Given the description of an element on the screen output the (x, y) to click on. 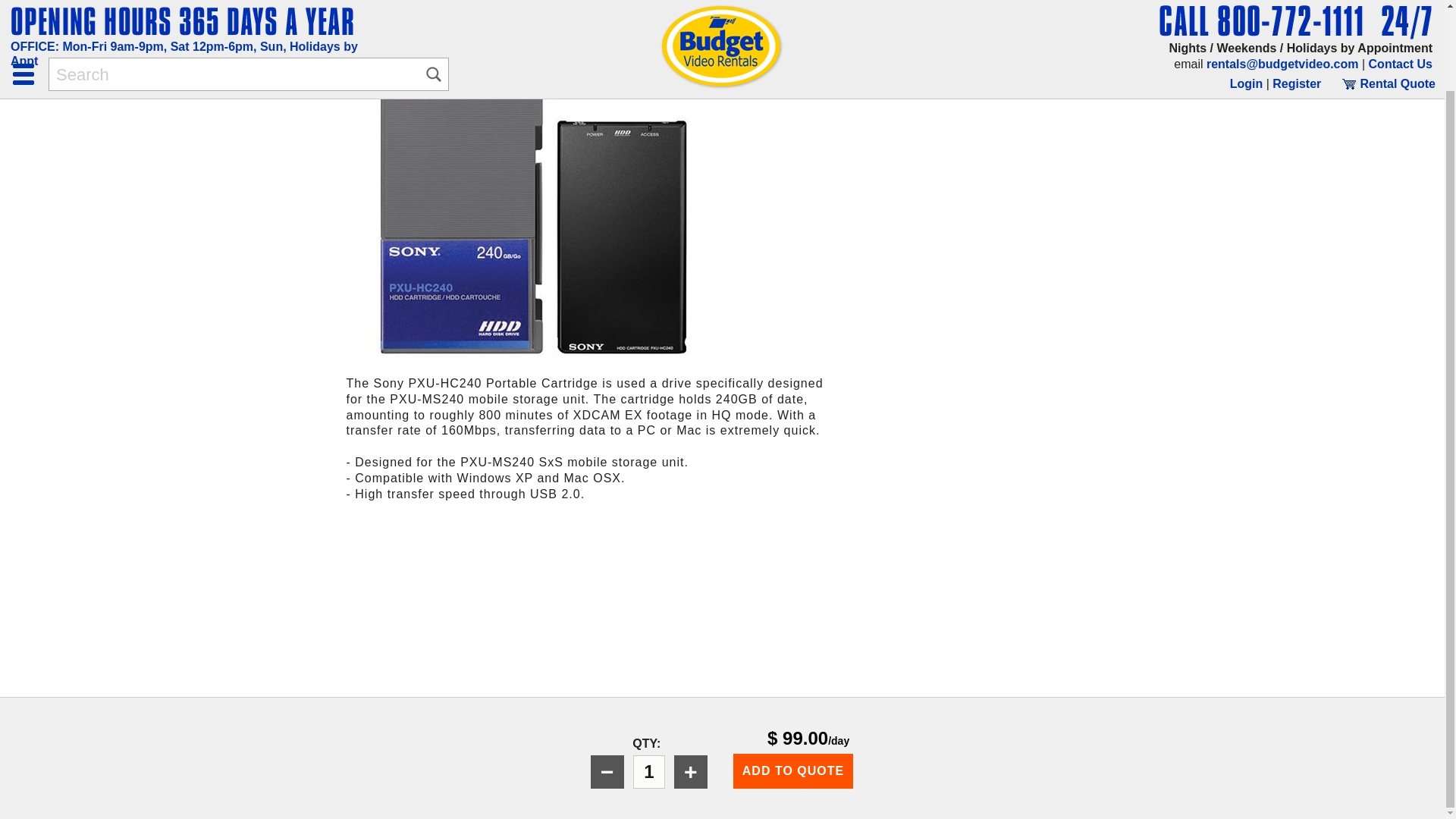
1 (649, 680)
Video Cameras (443, 54)
Sony XDCAM (550, 54)
ADD TO QUOTE (793, 679)
